Given the description of an element on the screen output the (x, y) to click on. 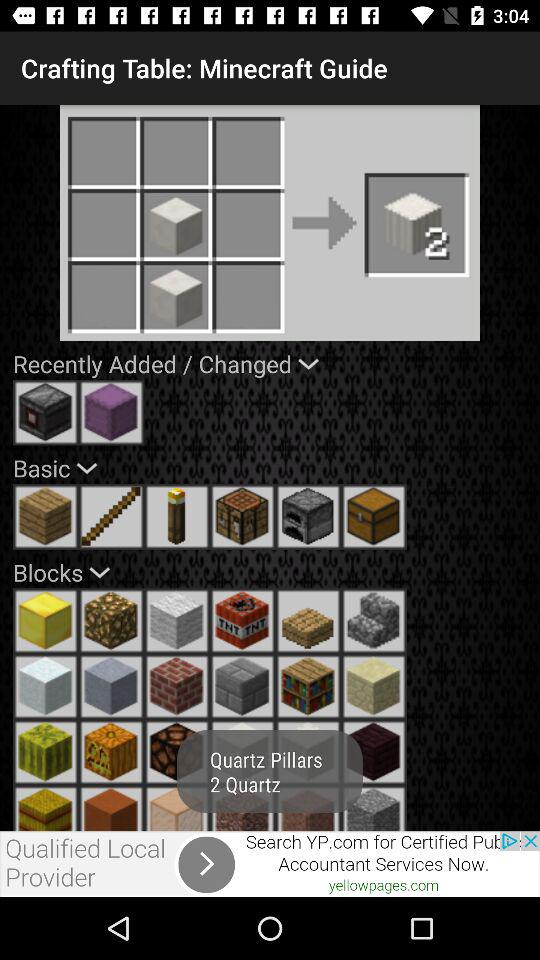
click on the black box (45, 412)
